Given the description of an element on the screen output the (x, y) to click on. 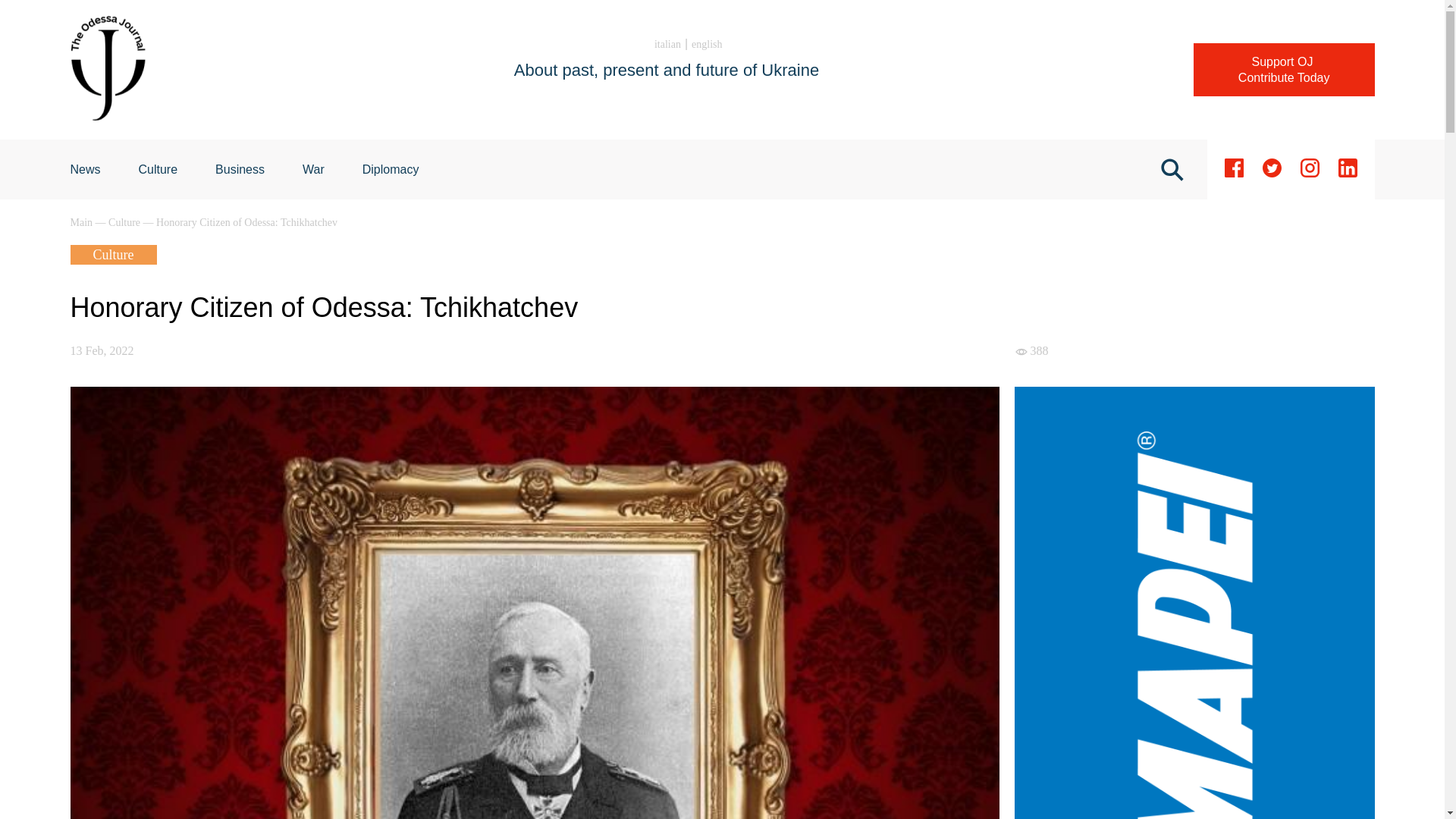
News (84, 169)
Main (81, 222)
News (84, 169)
Culture (124, 222)
Support (1283, 69)
Business (239, 169)
english (706, 43)
Diplomacy (390, 169)
Business (239, 169)
Diplomacy (390, 169)
